Given the description of an element on the screen output the (x, y) to click on. 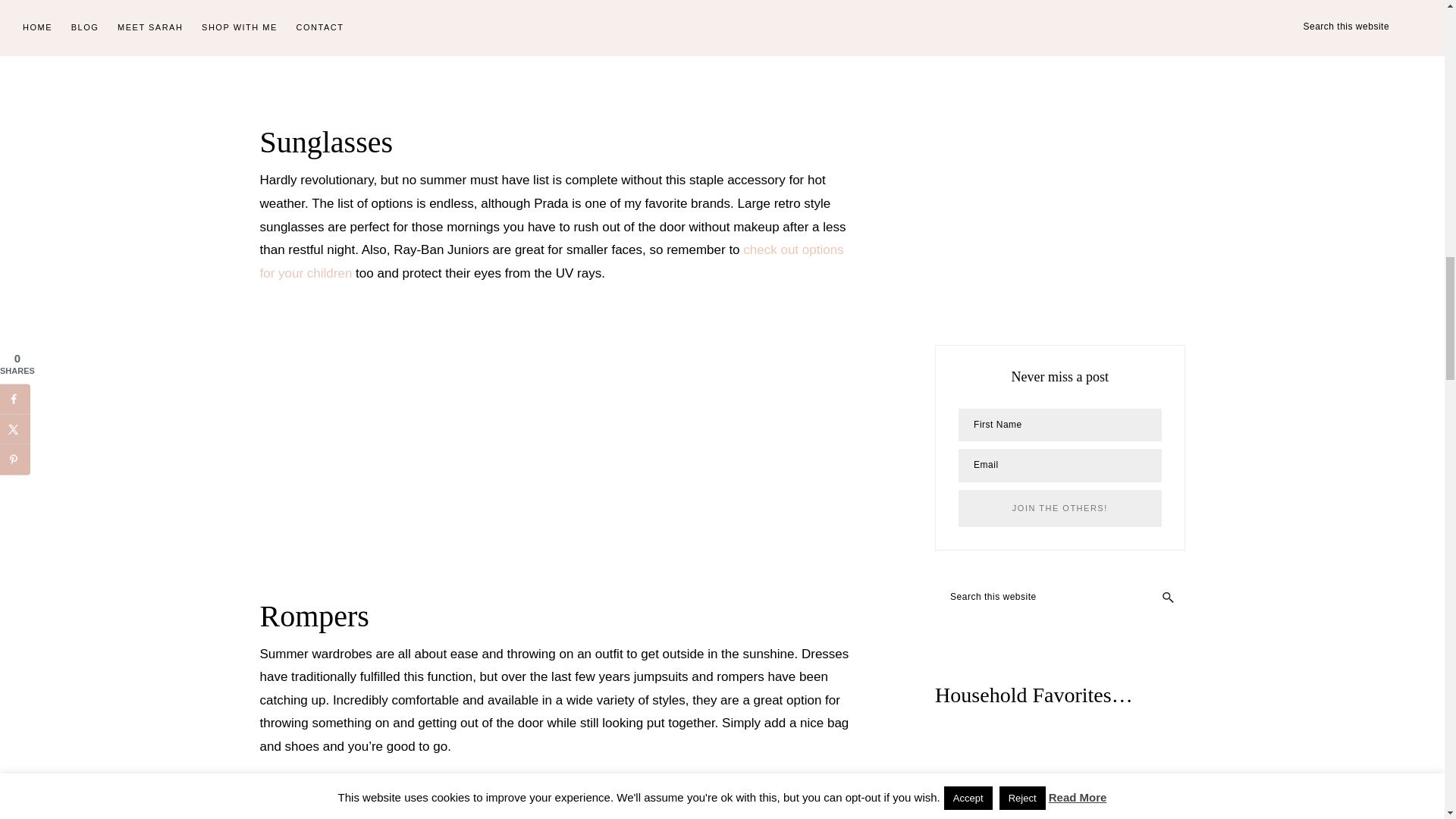
Join the Others! (1059, 508)
